Given the description of an element on the screen output the (x, y) to click on. 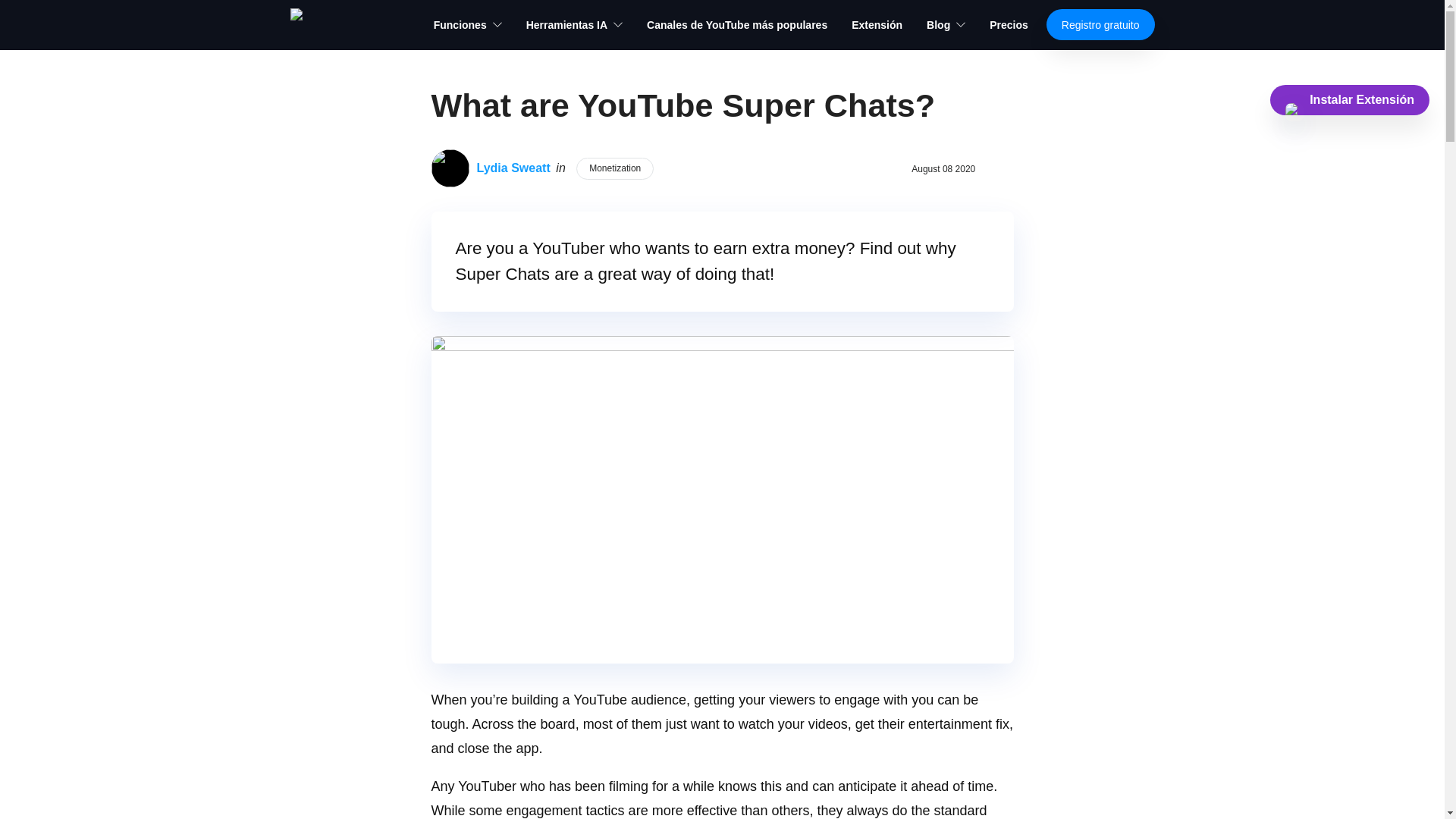
Registro gratuito (1100, 24)
Herramientas IA (574, 24)
Funciones (467, 24)
Precios (1008, 24)
Registro gratuito (1100, 24)
Blog (945, 24)
